Given the description of an element on the screen output the (x, y) to click on. 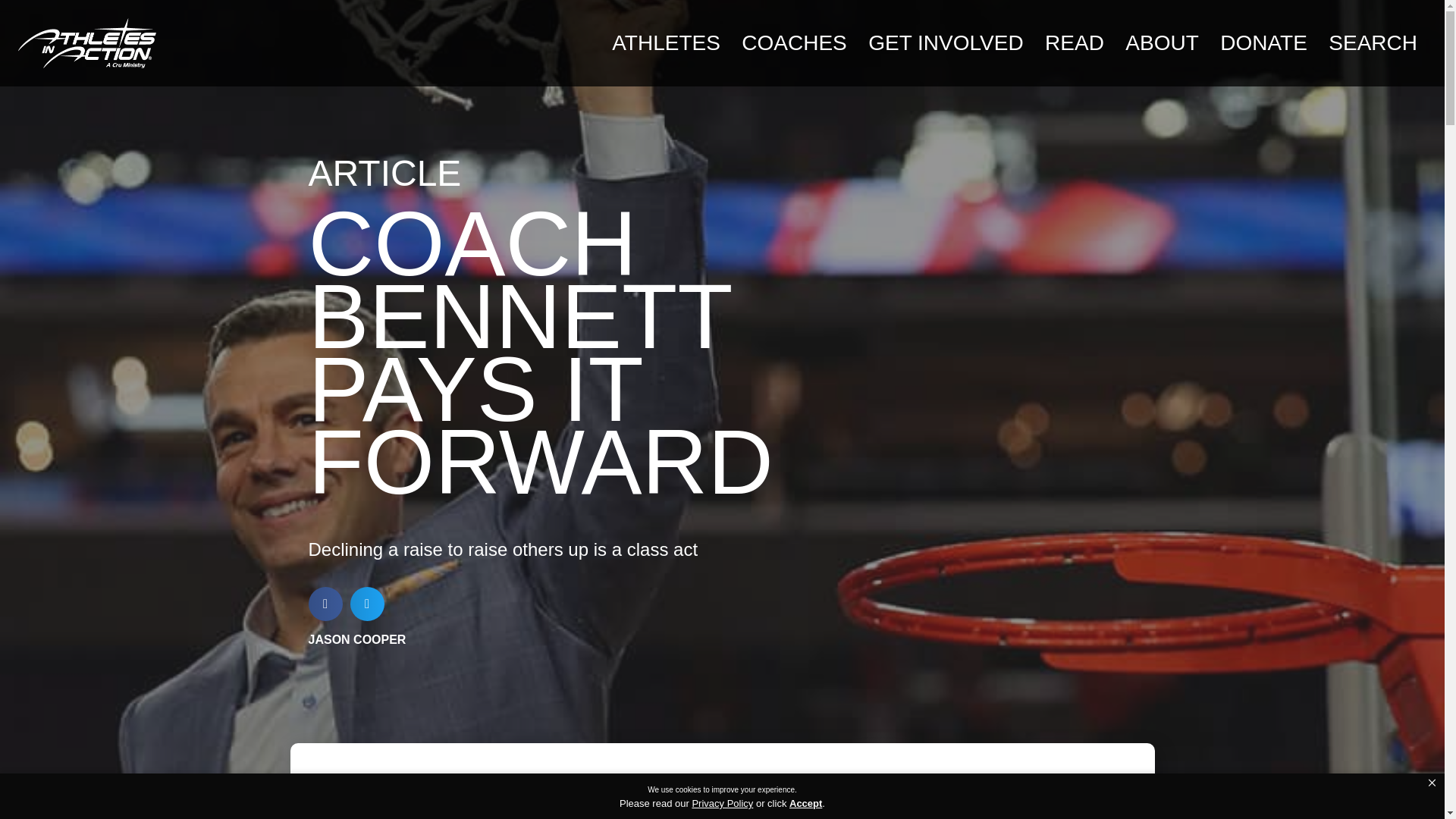
READ (1074, 42)
Accept (805, 803)
COACHES (793, 42)
GET INVOLVED (945, 42)
DONATE (1263, 42)
Privacy Policy (721, 803)
ATHLETES (666, 42)
ABOUT (1161, 42)
SEARCH (1372, 42)
